Given the description of an element on the screen output the (x, y) to click on. 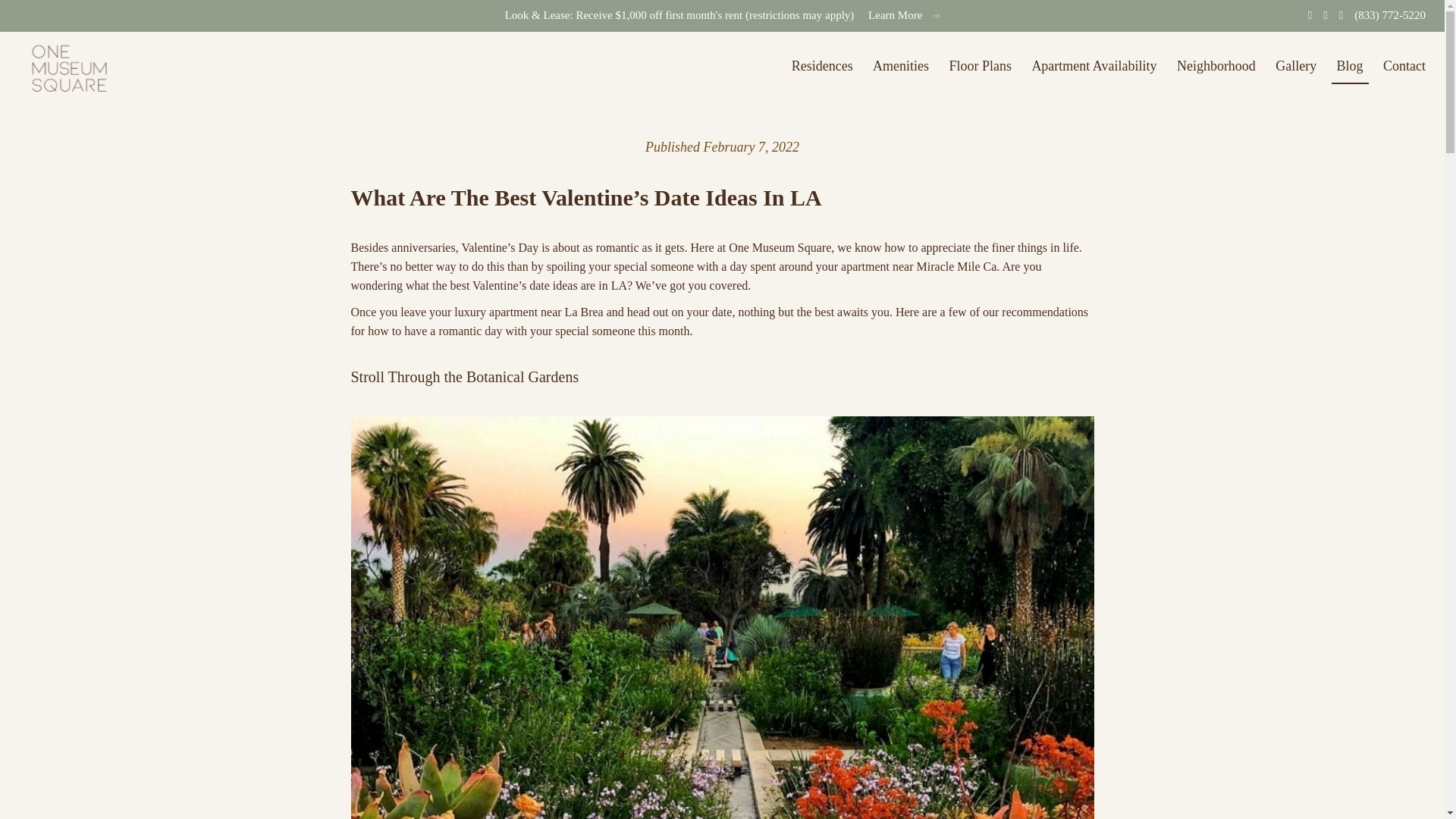
Learn More (898, 15)
Apartment Availability (1094, 66)
Neighborhood (1216, 66)
Gallery (1295, 66)
Contact (1404, 66)
Residences (822, 66)
Amenities (901, 66)
Blog (1349, 66)
Floor Plans (980, 66)
